Given the description of an element on the screen output the (x, y) to click on. 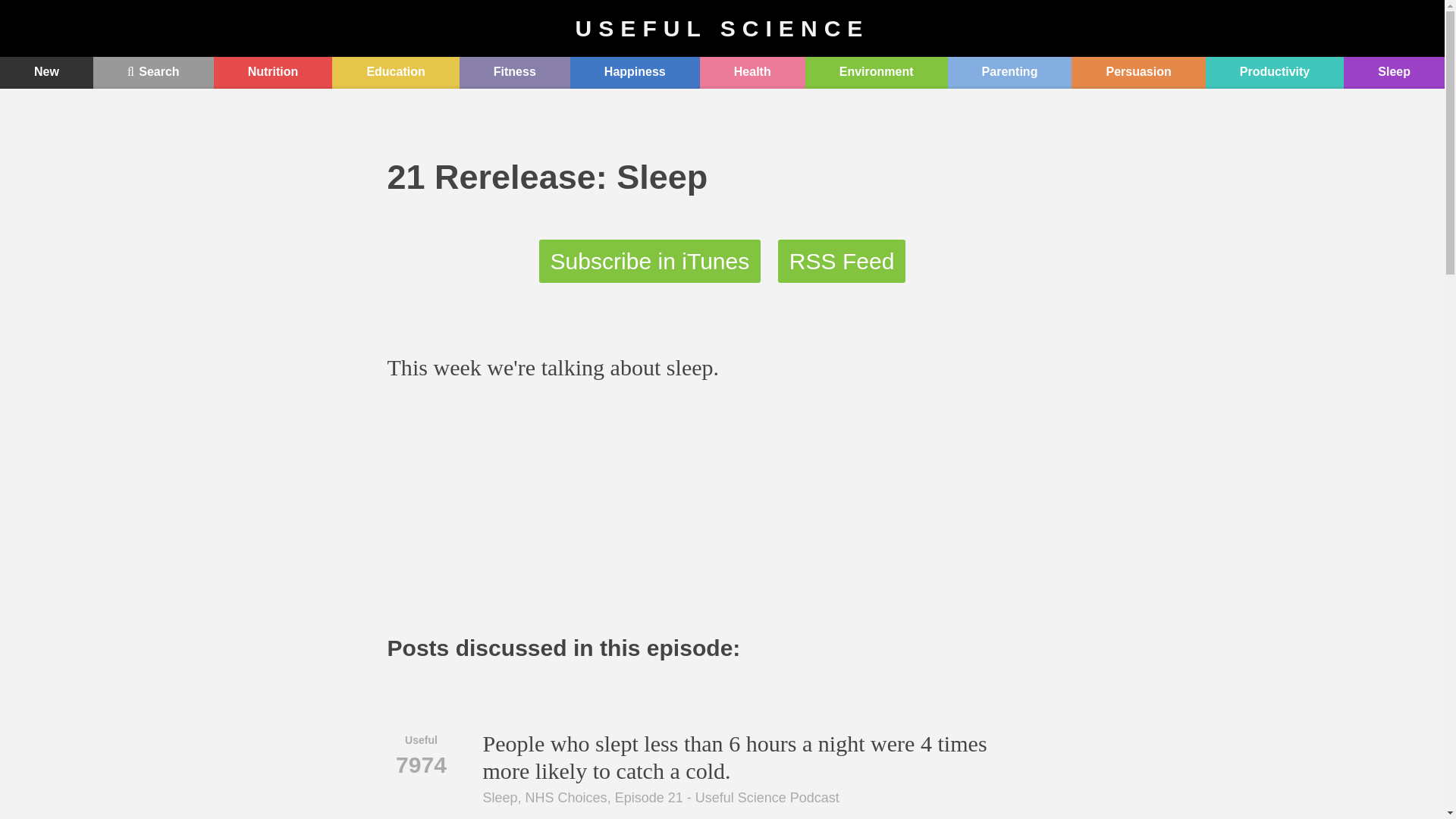
NHS Choices (566, 797)
Parenting (1009, 72)
Persuasion (1138, 72)
Nutrition (273, 72)
Search (153, 72)
USEFUL SCIENCE (722, 27)
Episode 21 - Useful Science Podcast (727, 797)
Subscribe in iTunes (649, 260)
New (46, 72)
